Given the description of an element on the screen output the (x, y) to click on. 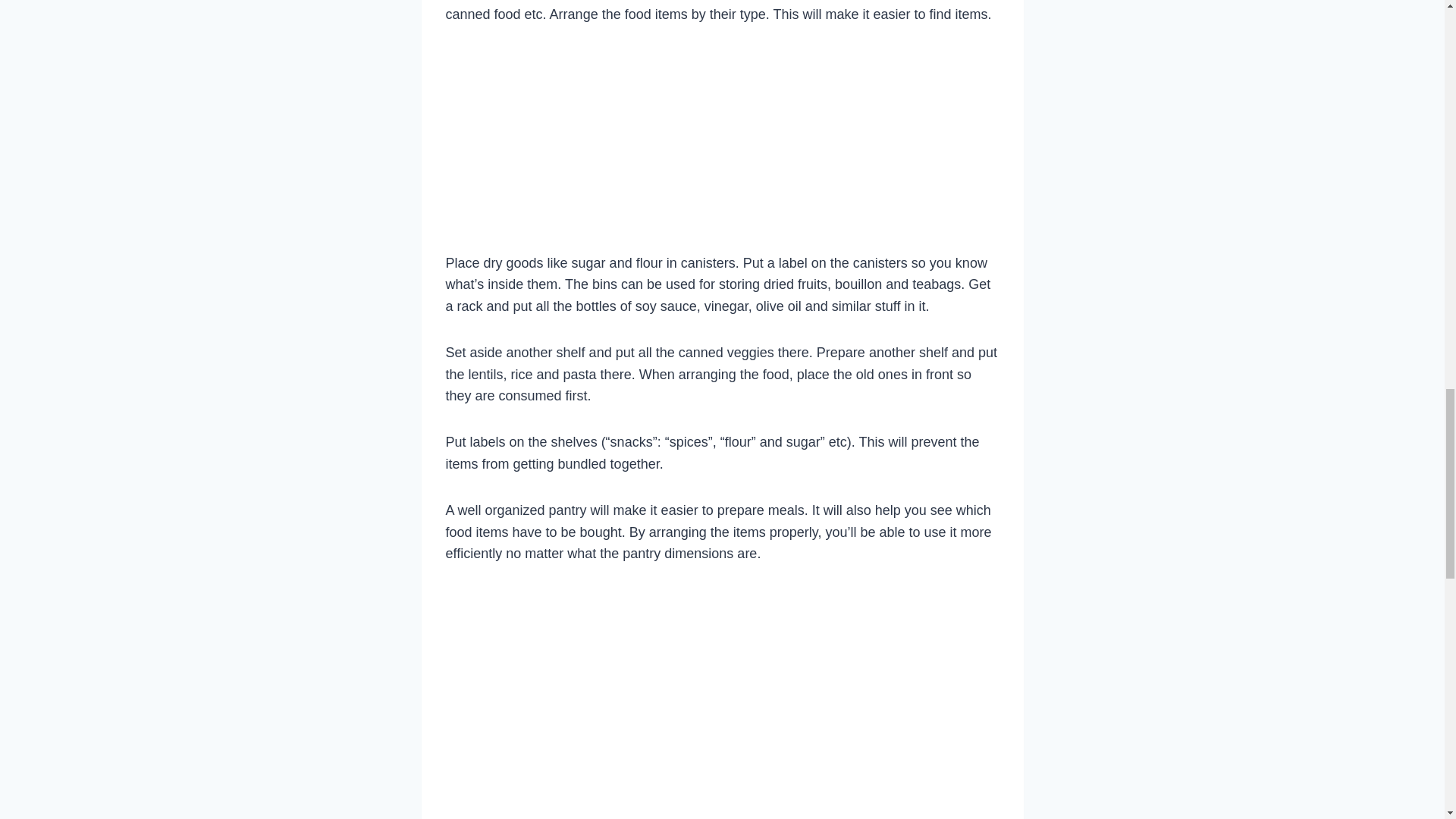
Advertisement (721, 144)
Advertisement (721, 683)
Advertisement (721, 805)
